Given the description of an element on the screen output the (x, y) to click on. 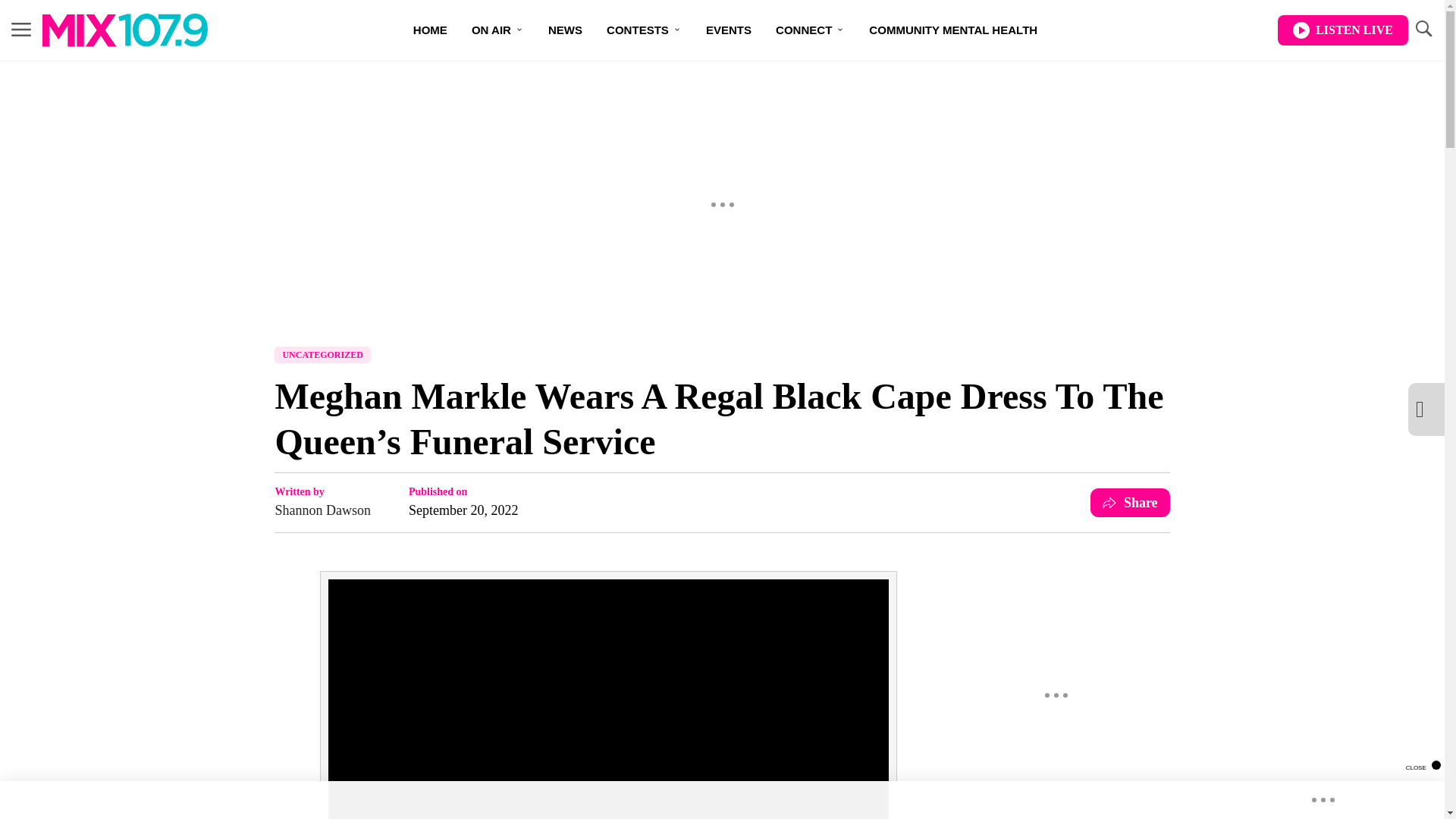
MENU (20, 29)
EVENTS (728, 30)
Share (1130, 502)
NEWS (564, 30)
COMMUNITY MENTAL HEALTH (953, 30)
UNCATEGORIZED (322, 354)
ON AIR (497, 30)
MENU (20, 30)
LISTEN LIVE (1342, 30)
CONNECT (809, 30)
